Given the description of an element on the screen output the (x, y) to click on. 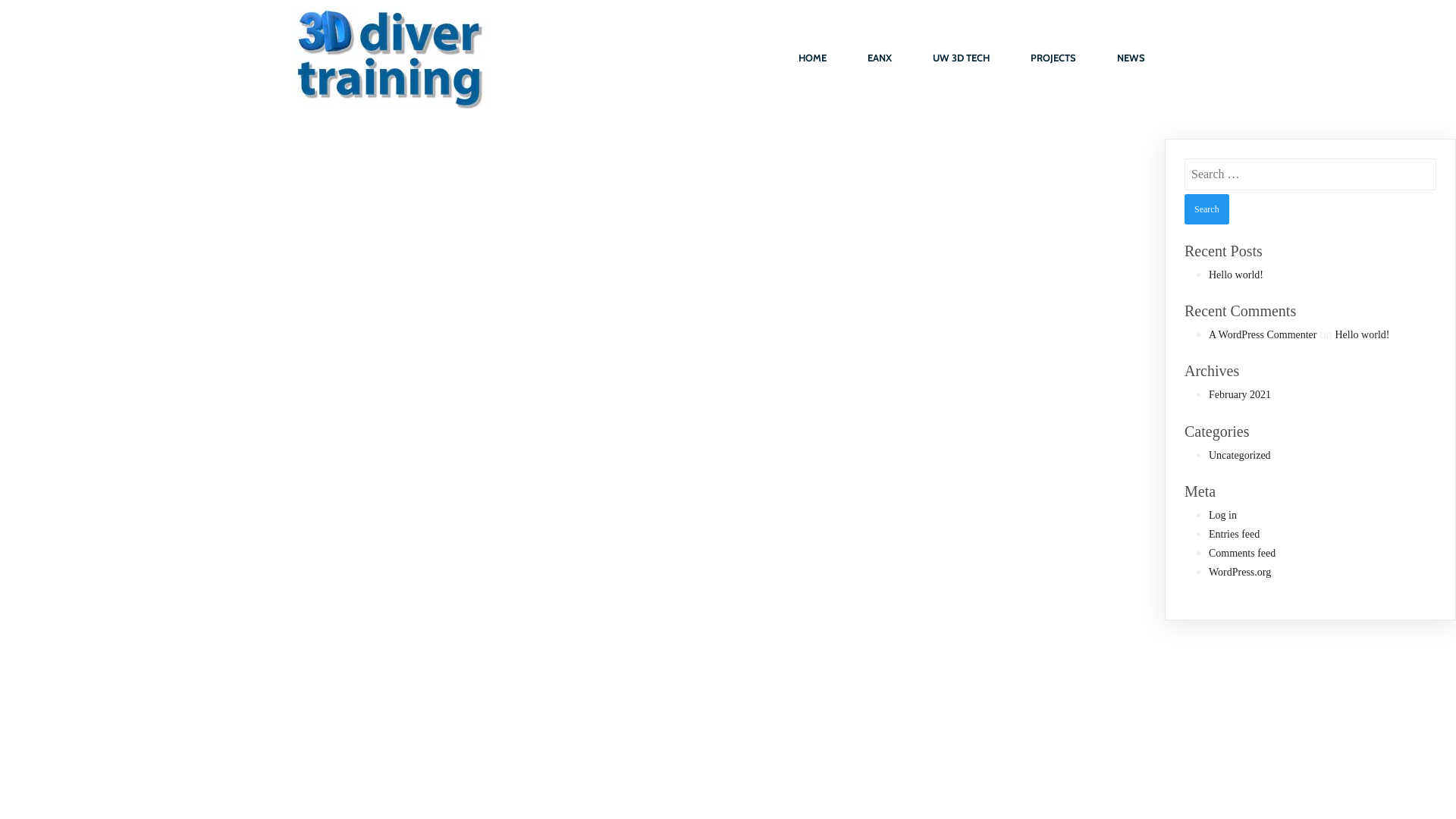
Hello world! Element type: text (1235, 274)
UW 3D TECH Element type: text (960, 58)
EANX Element type: text (879, 58)
Entries feed Element type: text (1233, 533)
WordPress.org Element type: text (1239, 571)
Log in Element type: text (1222, 514)
HOME Element type: text (812, 58)
Search Element type: text (1206, 209)
Hello world! Element type: text (1361, 334)
Uncategorized Element type: text (1239, 455)
Logo_Final_256 Element type: hover (388, 57)
February 2021 Element type: text (1239, 394)
NEWS Element type: text (1131, 58)
A WordPress Commenter Element type: text (1262, 334)
Comments feed Element type: text (1241, 552)
PROJECTS Element type: text (1053, 58)
